Given the description of an element on the screen output the (x, y) to click on. 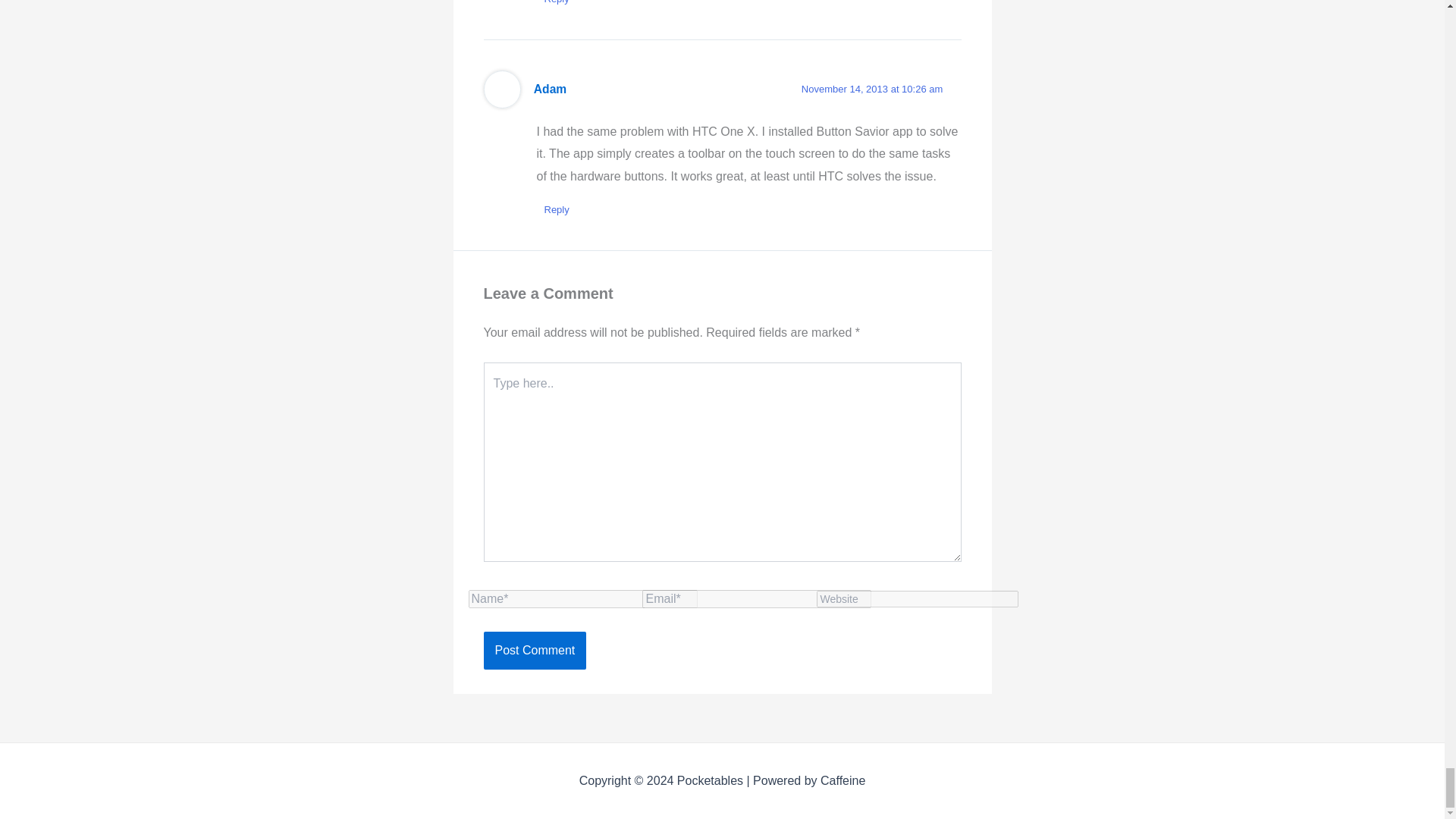
Post Comment (534, 650)
